Given the description of an element on the screen output the (x, y) to click on. 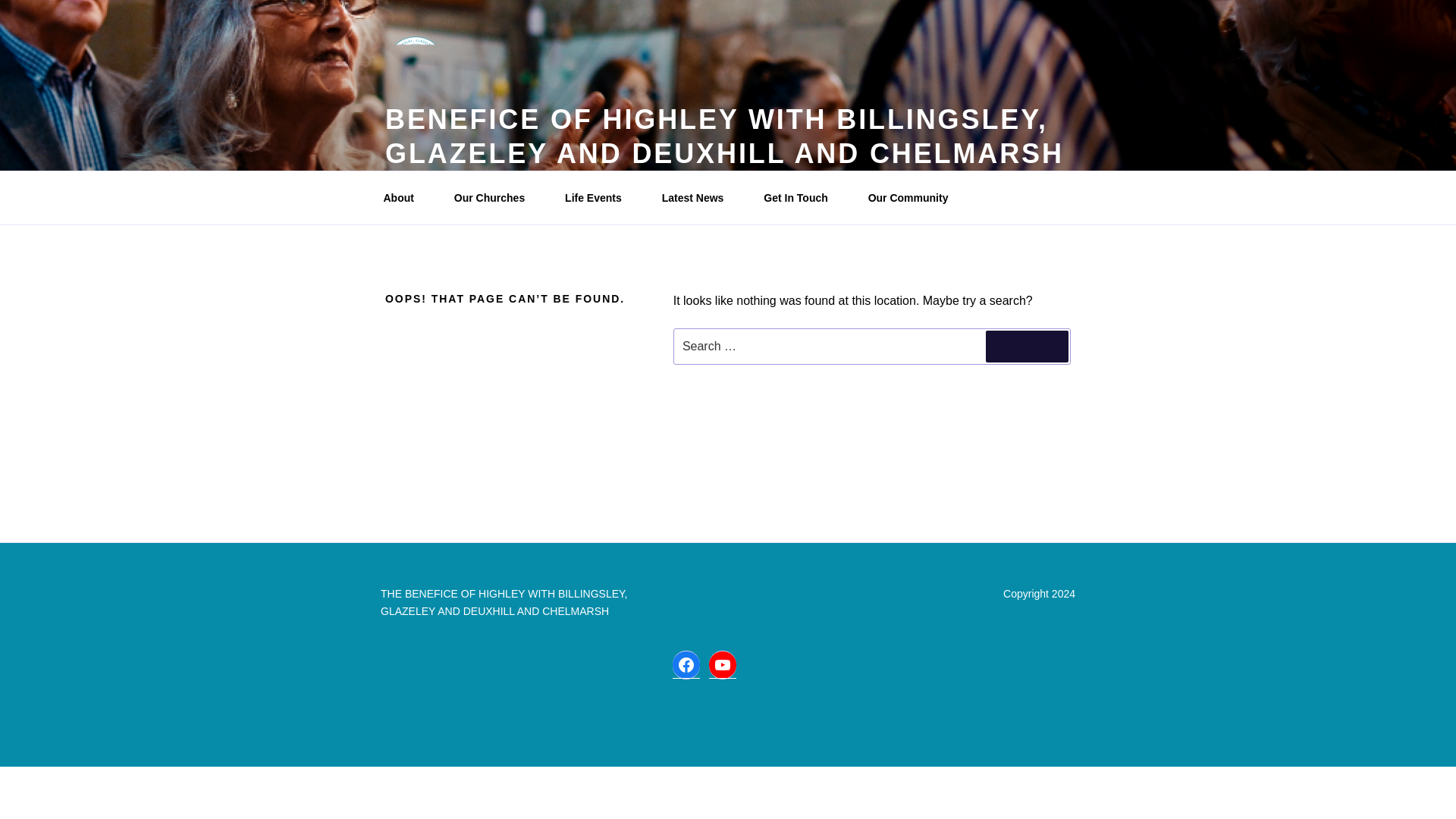
Latest News (697, 197)
Life Events (598, 197)
YouTube (722, 664)
About (403, 197)
Our Community (913, 197)
Search (1026, 346)
Facebook (686, 664)
Our Churches (494, 197)
Get In Touch (801, 197)
